Given the description of an element on the screen output the (x, y) to click on. 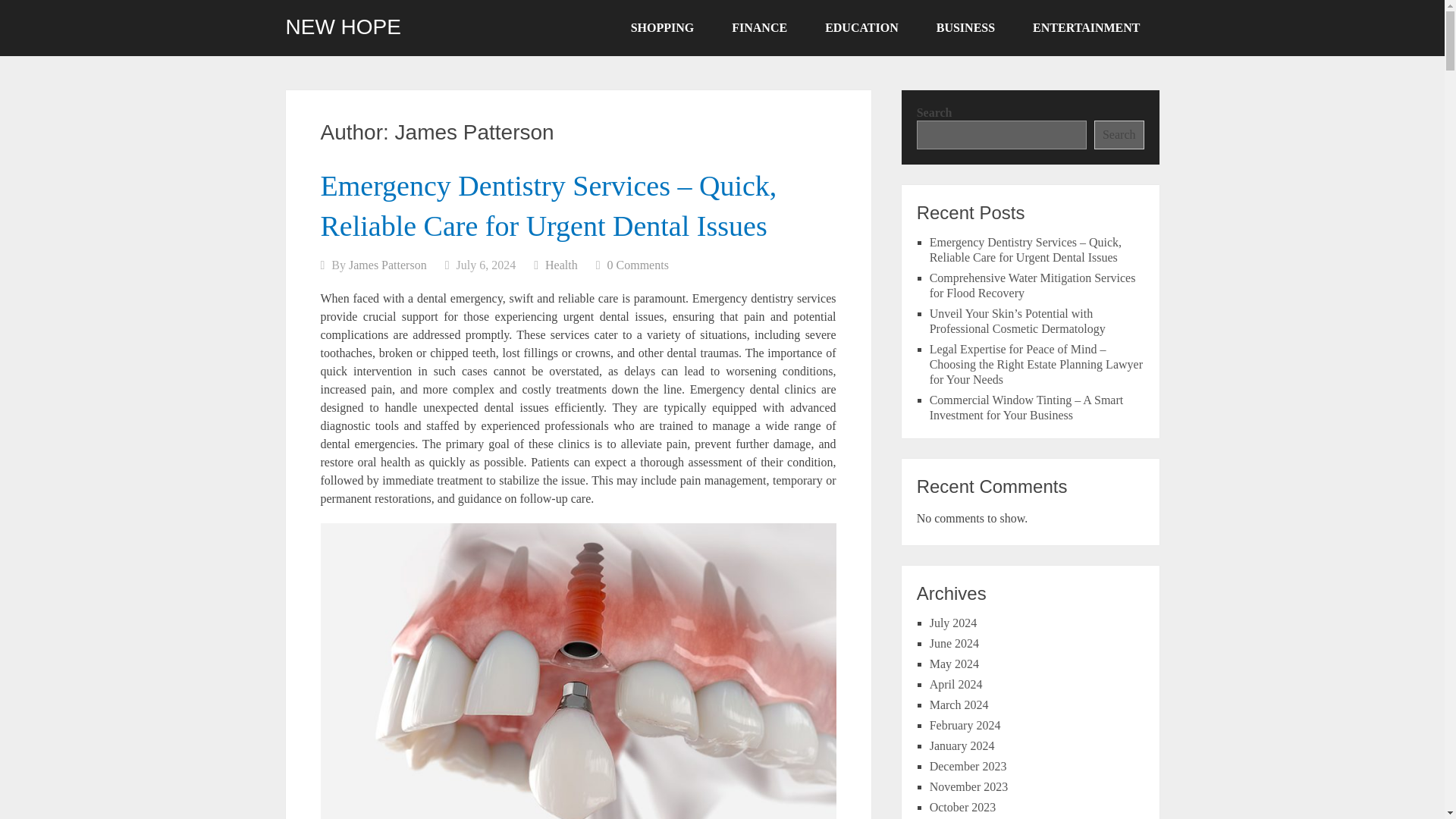
Posts by James Patterson (387, 264)
0 Comments (637, 264)
EDUCATION (861, 28)
James Patterson (387, 264)
BUSINESS (965, 28)
NEW HOPE (342, 26)
SHOPPING (662, 28)
ENTERTAINMENT (1085, 28)
Health (561, 264)
FINANCE (759, 28)
